Given the description of an element on the screen output the (x, y) to click on. 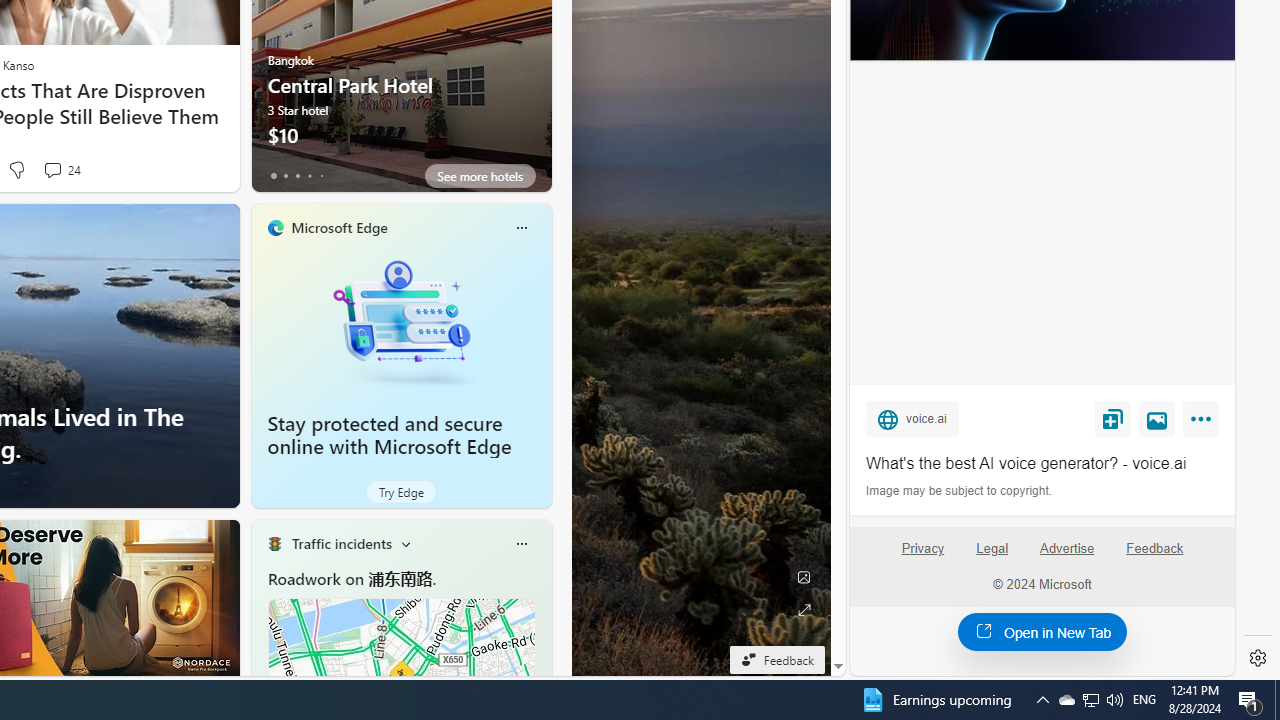
Privacy (922, 547)
Advertise (1067, 557)
More options (521, 543)
Legal (992, 557)
View comments 24 Comment (52, 169)
View image (1157, 419)
Image may be subject to copyright. (959, 490)
What's the best AI voice generator? - voice.ai (1042, 463)
voice.ai (912, 419)
tab-3 (309, 175)
See more hotels (479, 175)
Edit Background (803, 577)
Settings (1258, 658)
